Given the description of an element on the screen output the (x, y) to click on. 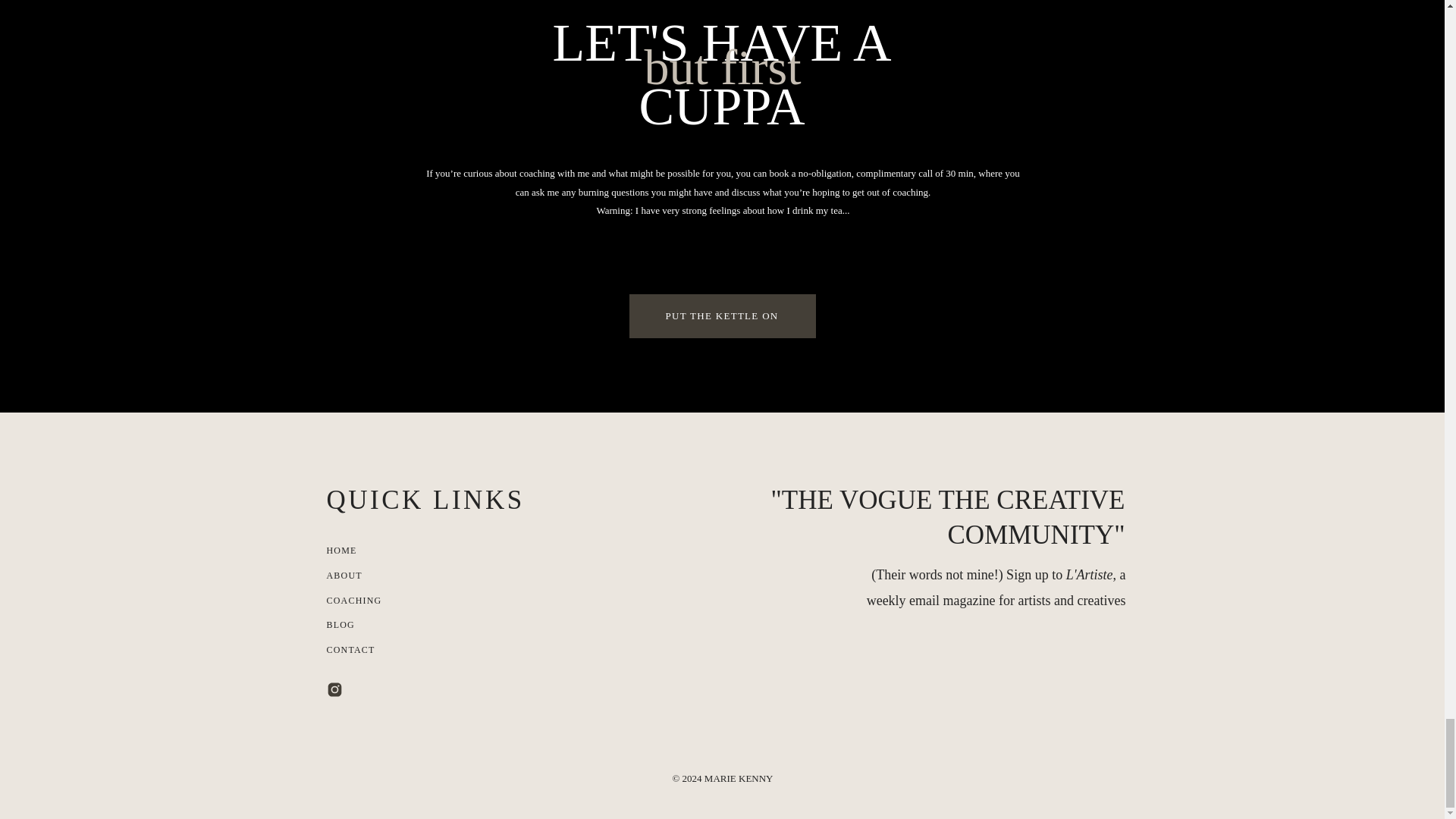
HOME (385, 551)
LET'S HAVE A CUPPA (721, 72)
QUICK LINKS (440, 501)
ABOUT (361, 576)
CONTACT (369, 651)
PUT THE KETTLE ON (720, 316)
COACHING (359, 601)
